Given the description of an element on the screen output the (x, y) to click on. 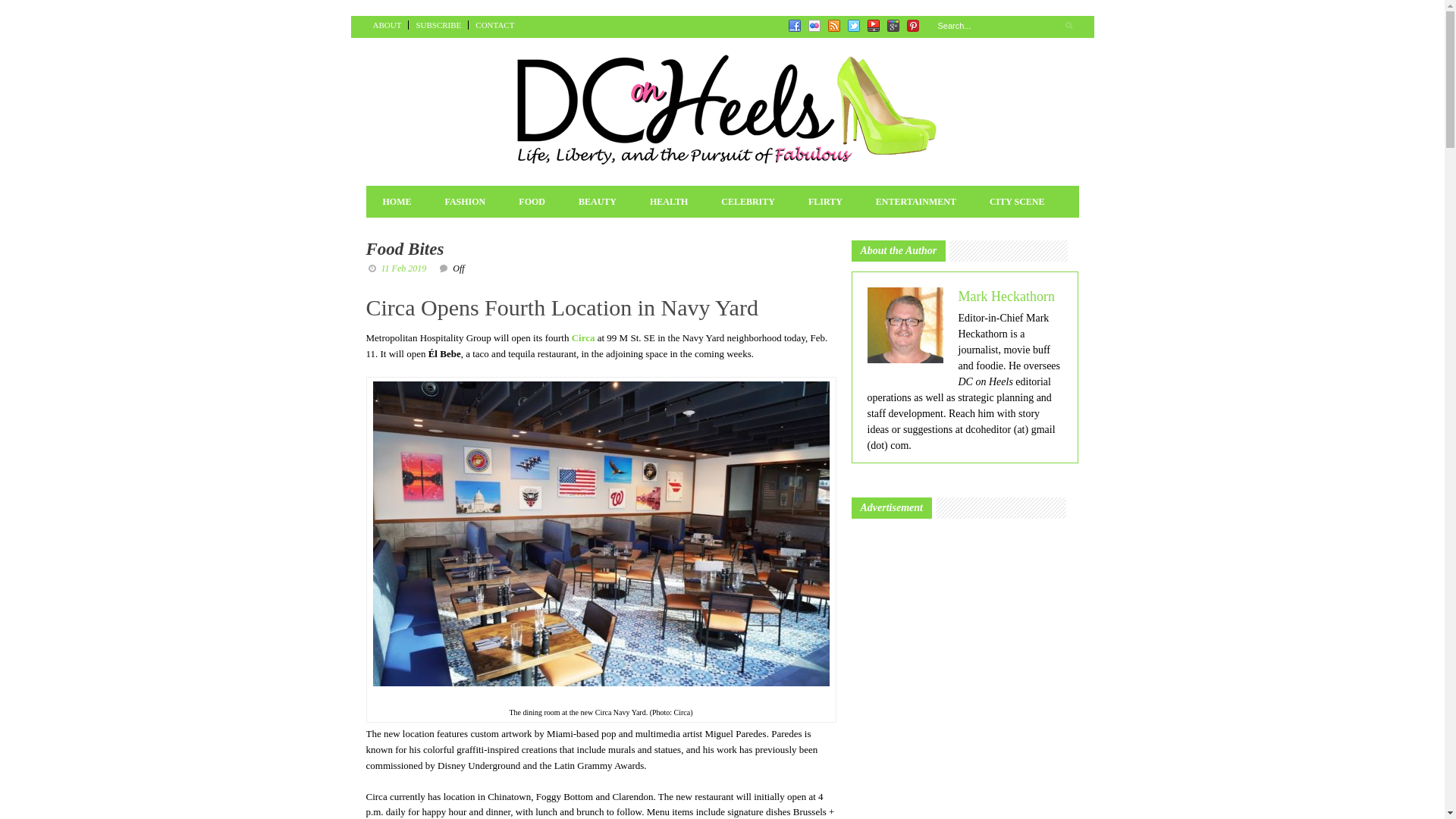
SUBSCRIBE (438, 24)
Search... (1004, 25)
CELEBRITY (748, 201)
ENTERTAINMENT (915, 201)
ABOUT (387, 24)
Food Bites (404, 248)
BEAUTY (597, 201)
CONTACT (494, 24)
FLIRTY (825, 201)
11 Feb 2019 (403, 267)
FOOD (532, 201)
HEALTH (668, 201)
CITY SCENE (1016, 201)
FASHION (465, 201)
HOME (396, 201)
